Given the description of an element on the screen output the (x, y) to click on. 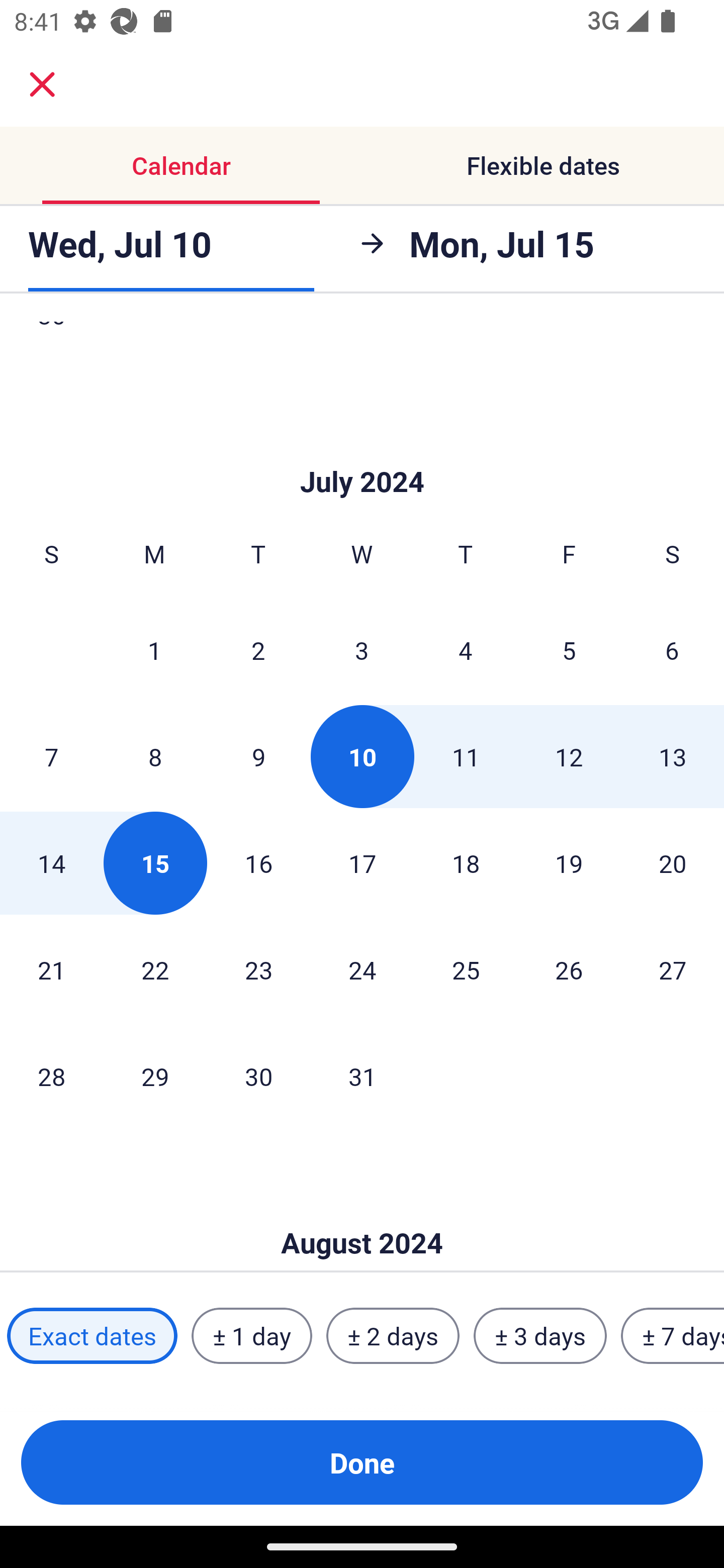
close. (42, 84)
Flexible dates (542, 164)
Skip to Done (362, 451)
1 Monday, July 1, 2024 (154, 649)
2 Tuesday, July 2, 2024 (257, 649)
3 Wednesday, July 3, 2024 (361, 649)
4 Thursday, July 4, 2024 (465, 649)
5 Friday, July 5, 2024 (568, 649)
6 Saturday, July 6, 2024 (672, 649)
7 Sunday, July 7, 2024 (51, 756)
8 Monday, July 8, 2024 (155, 756)
9 Tuesday, July 9, 2024 (258, 756)
16 Tuesday, July 16, 2024 (258, 863)
17 Wednesday, July 17, 2024 (362, 863)
18 Thursday, July 18, 2024 (465, 863)
19 Friday, July 19, 2024 (569, 863)
20 Saturday, July 20, 2024 (672, 863)
21 Sunday, July 21, 2024 (51, 969)
22 Monday, July 22, 2024 (155, 969)
23 Tuesday, July 23, 2024 (258, 969)
24 Wednesday, July 24, 2024 (362, 969)
25 Thursday, July 25, 2024 (465, 969)
26 Friday, July 26, 2024 (569, 969)
27 Saturday, July 27, 2024 (672, 969)
28 Sunday, July 28, 2024 (51, 1076)
29 Monday, July 29, 2024 (155, 1076)
30 Tuesday, July 30, 2024 (258, 1076)
31 Wednesday, July 31, 2024 (362, 1076)
Skip to Done (362, 1213)
Exact dates (92, 1335)
± 1 day (251, 1335)
± 2 days (392, 1335)
± 3 days (539, 1335)
± 7 days (672, 1335)
Done (361, 1462)
